Given the description of an element on the screen output the (x, y) to click on. 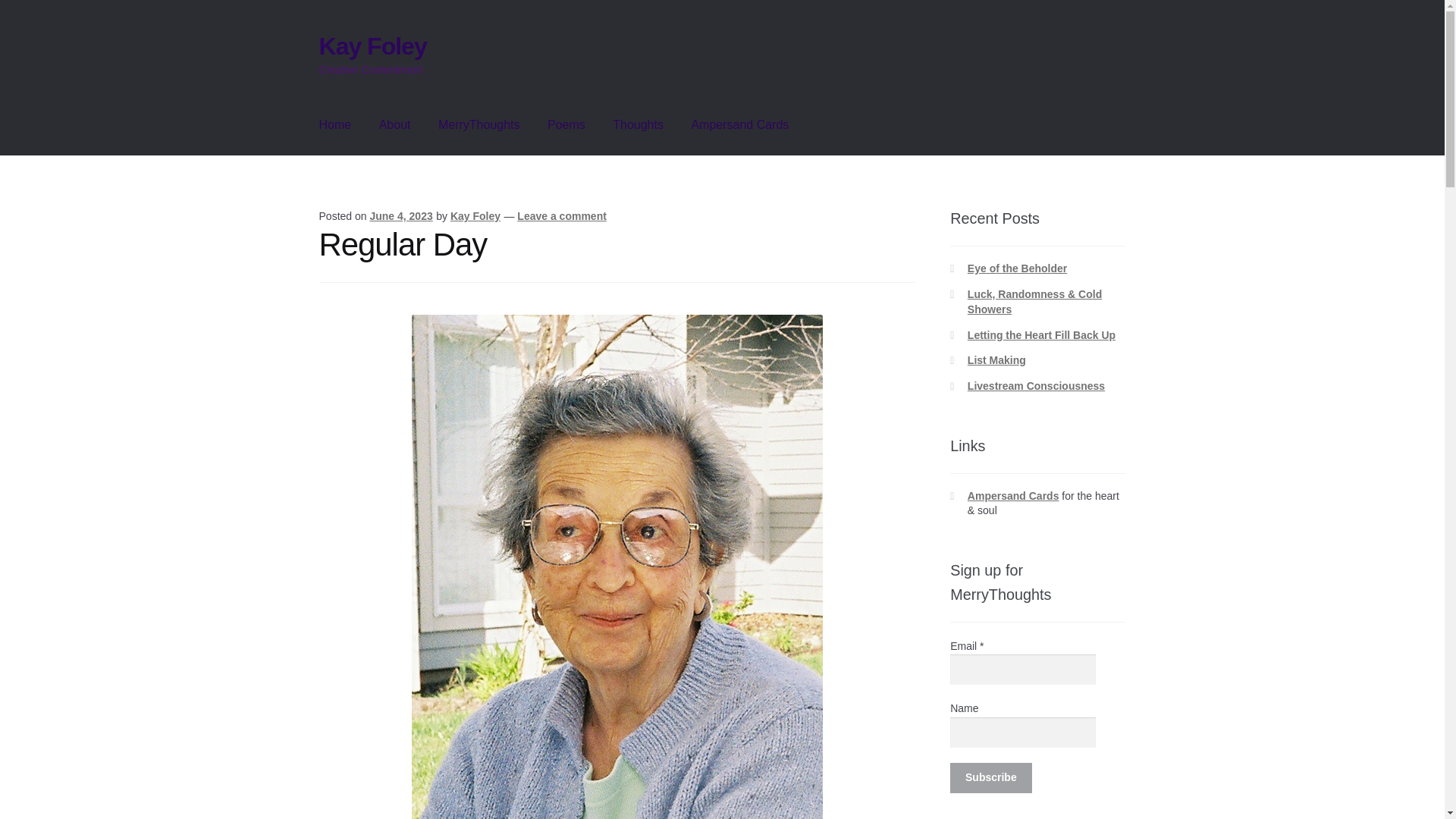
June 4, 2023 (400, 215)
Thoughts (637, 124)
Kay Foley (372, 45)
Letting the Heart Fill Back Up (1041, 335)
Ampersand Cards (739, 124)
Home (335, 124)
MerryThoughts (479, 124)
Kay Foley (474, 215)
Leave a comment (561, 215)
List Making (997, 359)
Poems (565, 124)
Livestream Consciousness (1036, 386)
About (394, 124)
Eye of the Beholder (1017, 268)
